Given the description of an element on the screen output the (x, y) to click on. 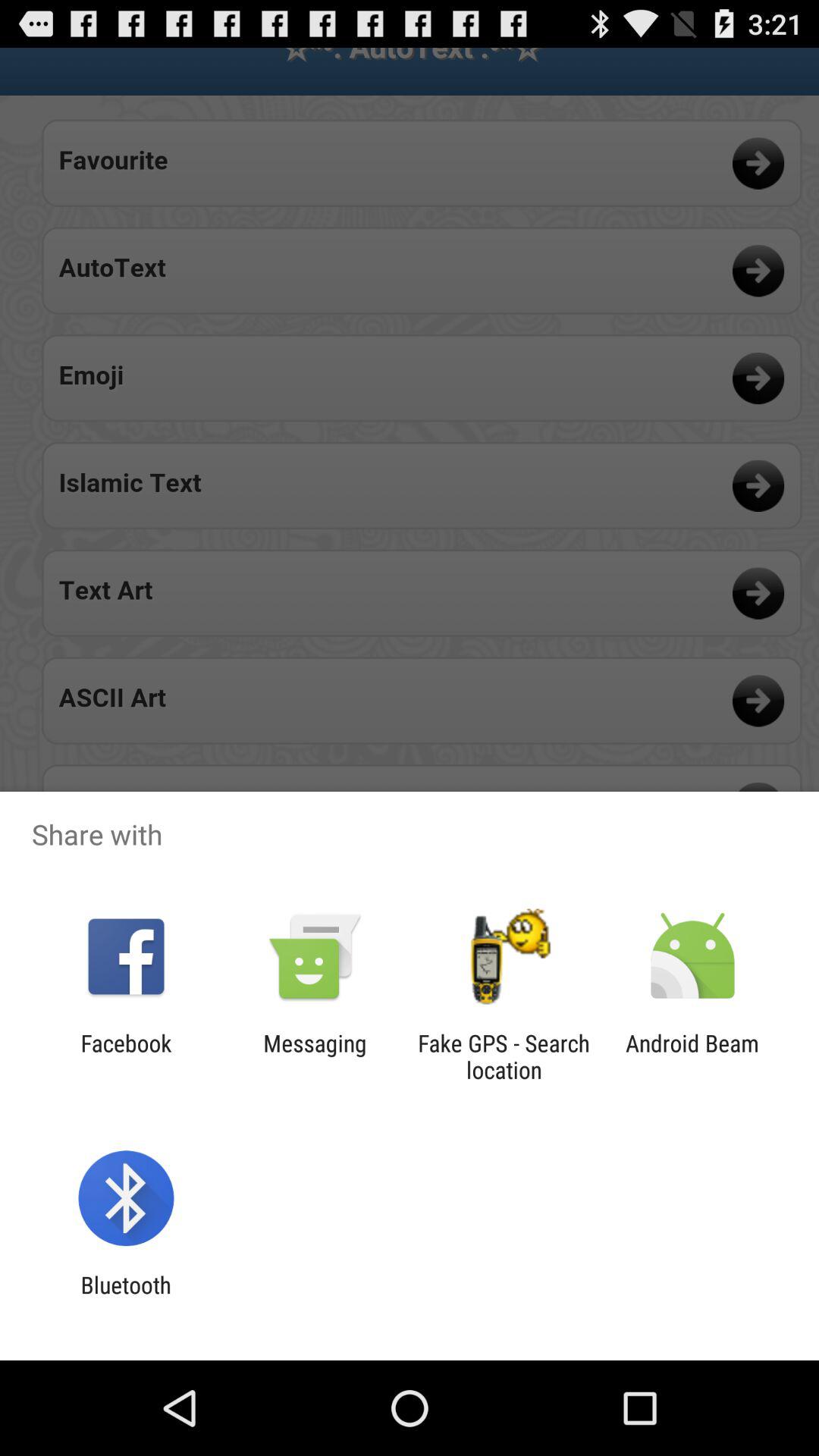
jump until bluetooth item (125, 1298)
